Given the description of an element on the screen output the (x, y) to click on. 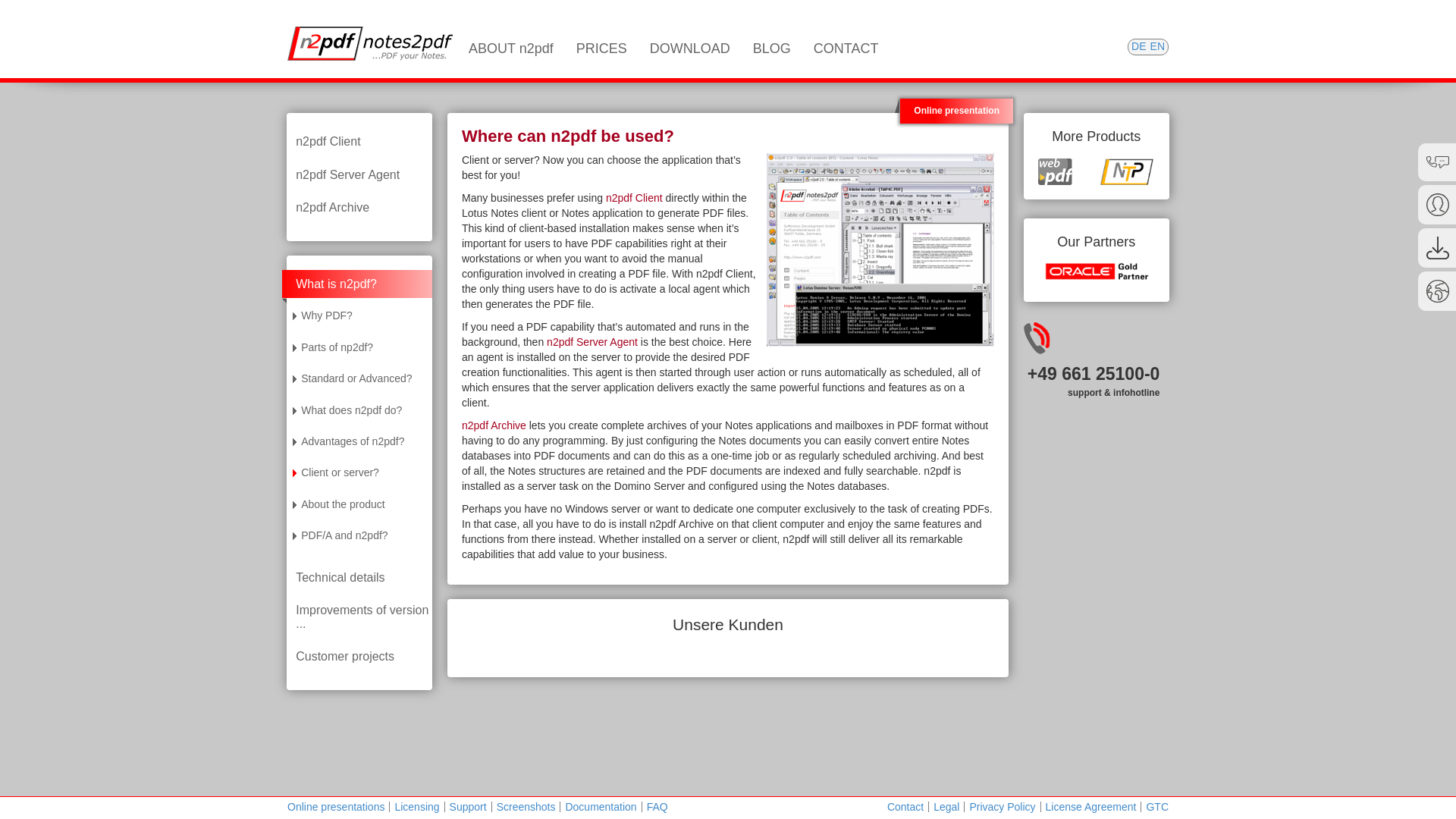
Parts of np2df? (357, 347)
About the product (357, 504)
n2pdf Client (359, 141)
What is n2pdf? (357, 284)
n2pdf Server Agent (592, 341)
EN (1157, 46)
n2pdf Server Agent (359, 174)
Client or server? (357, 472)
Jump to webPDF (1054, 170)
DE (1140, 46)
Standard or Advanced? (357, 378)
n2pdf Archive (493, 425)
ABOUT n2pdf (510, 39)
What does n2pdf do? (357, 410)
n2pdf Archive (359, 207)
